Given the description of an element on the screen output the (x, y) to click on. 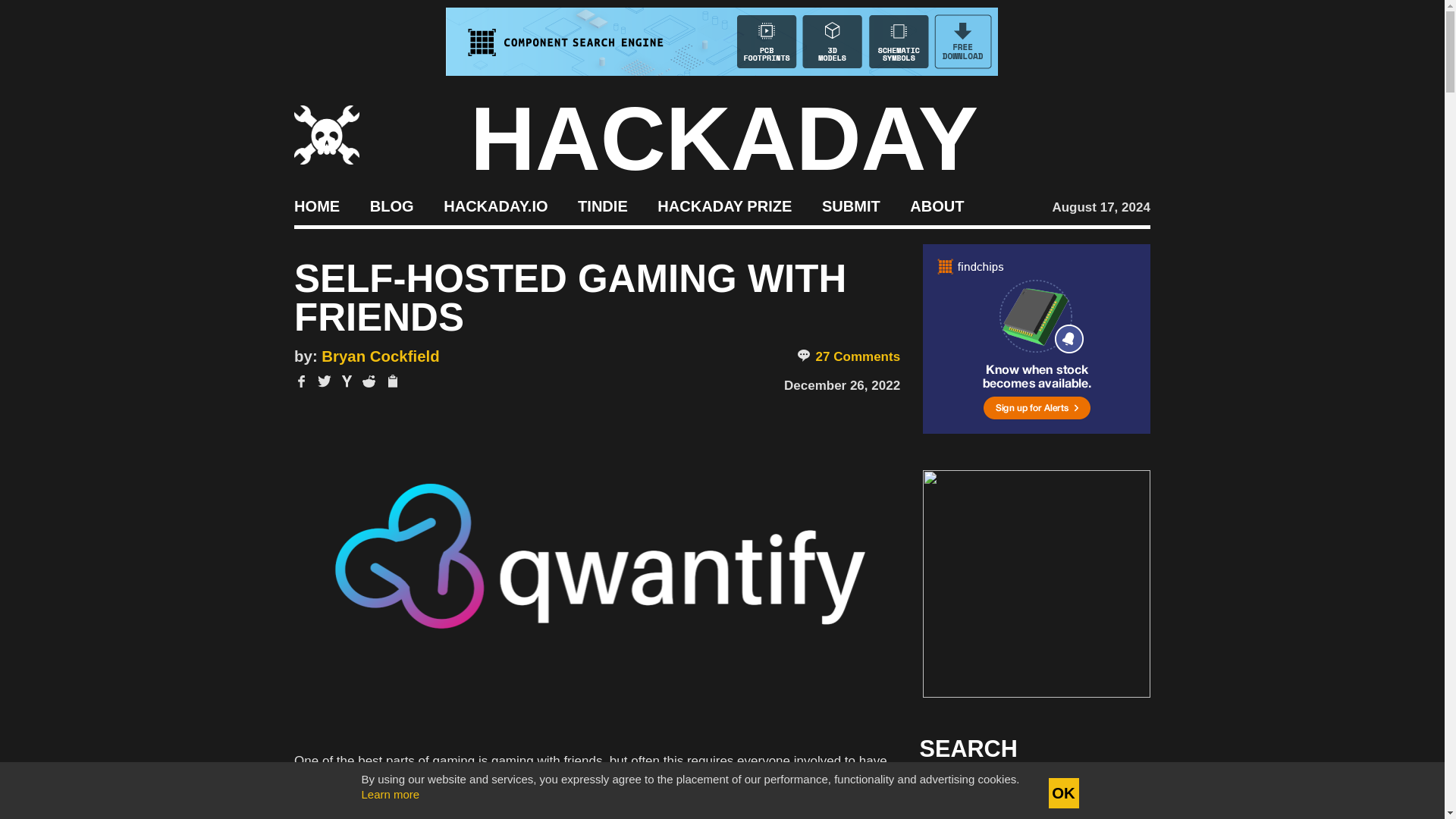
HACKADAY PRIZE (725, 205)
Share on Reddit (369, 381)
December 26, 2022 - 1:00 am (841, 385)
HACKADAY.IO (495, 205)
27 Comments (847, 356)
Share on Twitter (324, 381)
HOME (316, 205)
Share on Facebook (301, 381)
Build Something that Matters (725, 205)
Posts by Bryan Cockfield (380, 356)
